Given the description of an element on the screen output the (x, y) to click on. 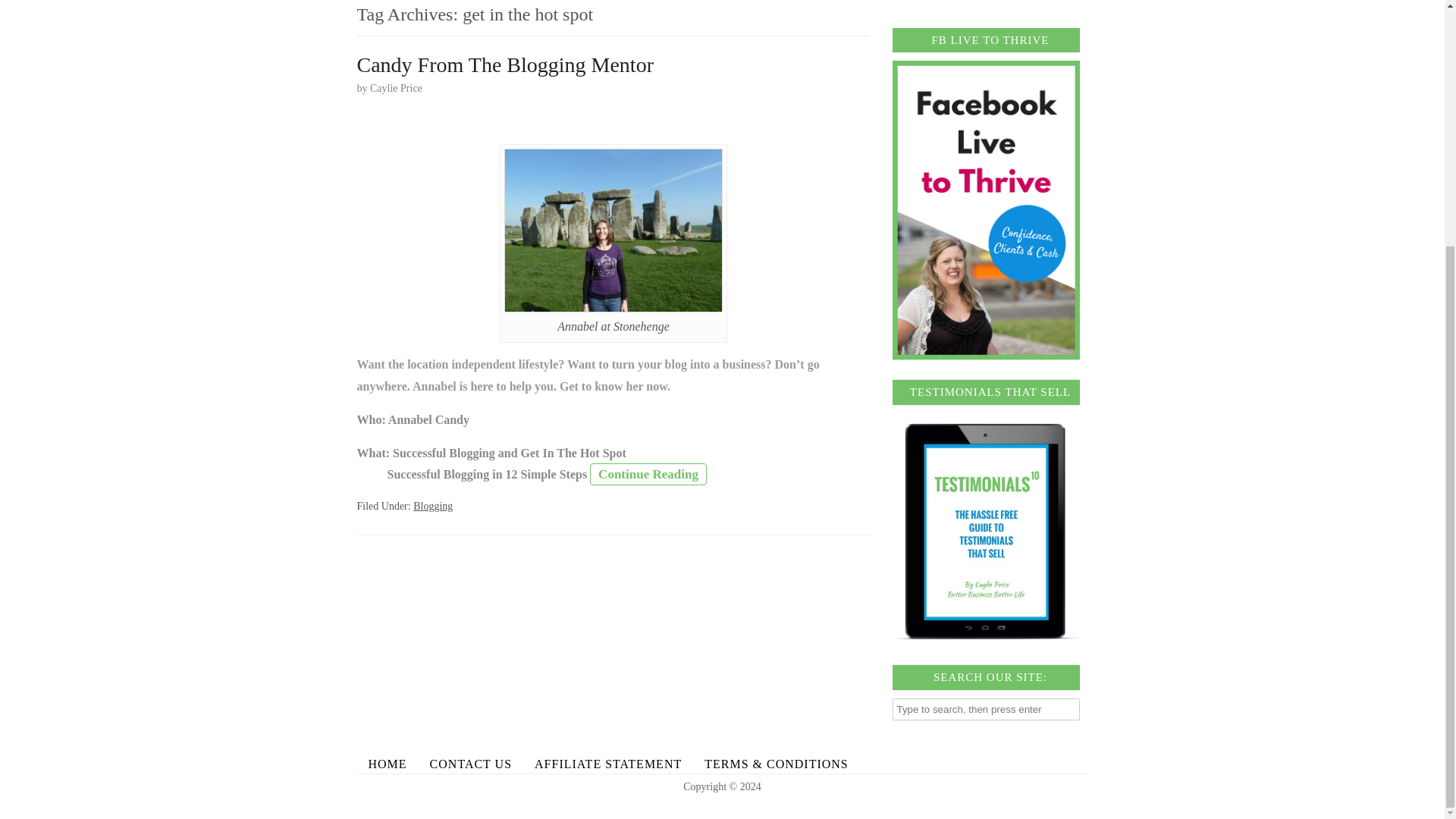
HOME (386, 763)
AFFILIATE STATEMENT (607, 763)
CONTACT US (470, 763)
Blogging (432, 505)
Candy From The Blogging Mentor (504, 64)
View all posts by Caylie Price (395, 88)
Continue Reading (647, 474)
Annabel at Stonehenge (612, 230)
Caylie Price (395, 88)
Type to search, then press enter (986, 709)
